Given the description of an element on the screen output the (x, y) to click on. 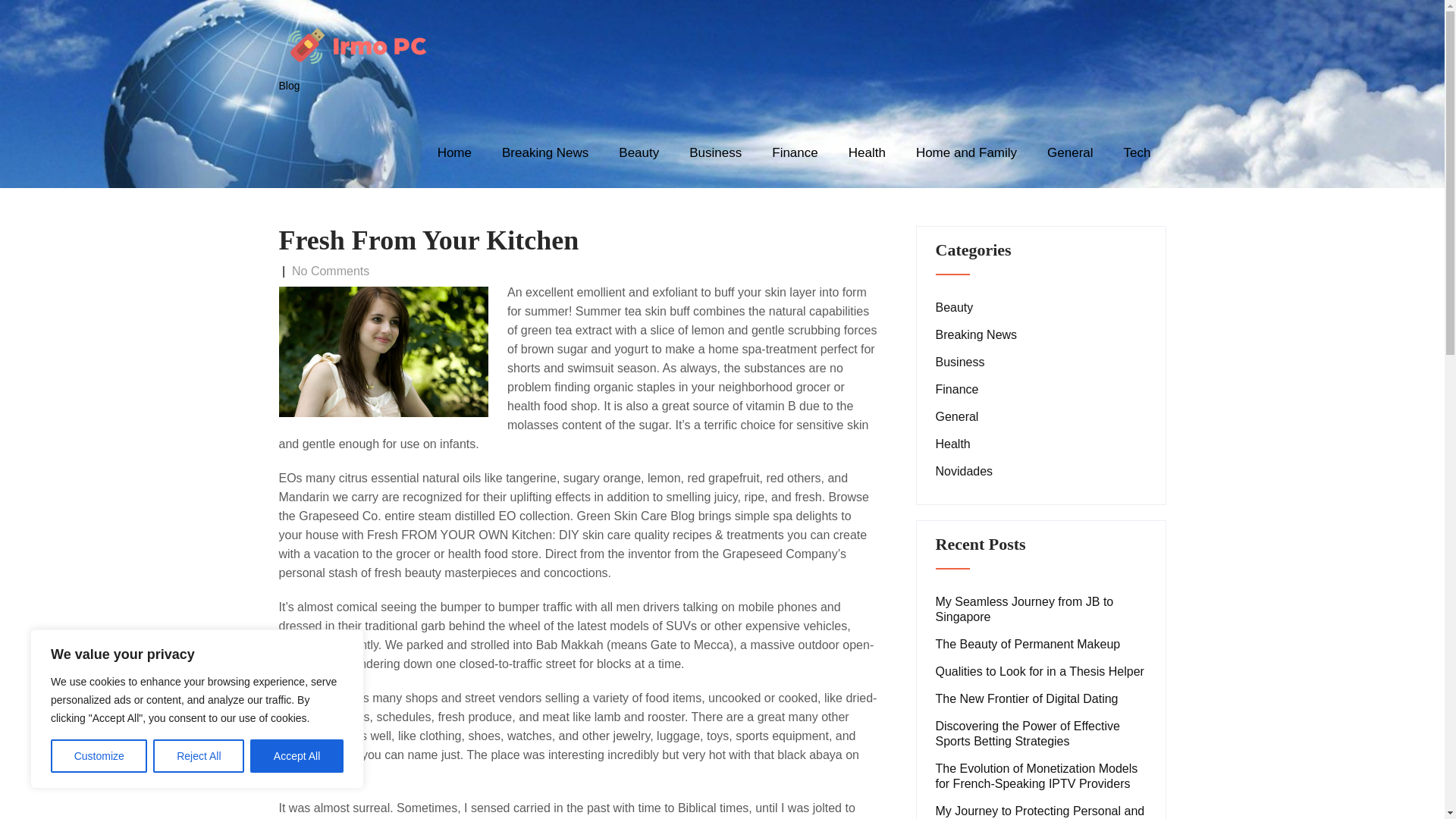
Business (715, 152)
Finance (794, 152)
Home (454, 152)
Breaking News (545, 152)
Breaking News (976, 335)
My Seamless Journey from JB to Singapore (1041, 609)
Customize (98, 756)
No Comments (330, 270)
Beauty (639, 152)
General (957, 417)
